Given the description of an element on the screen output the (x, y) to click on. 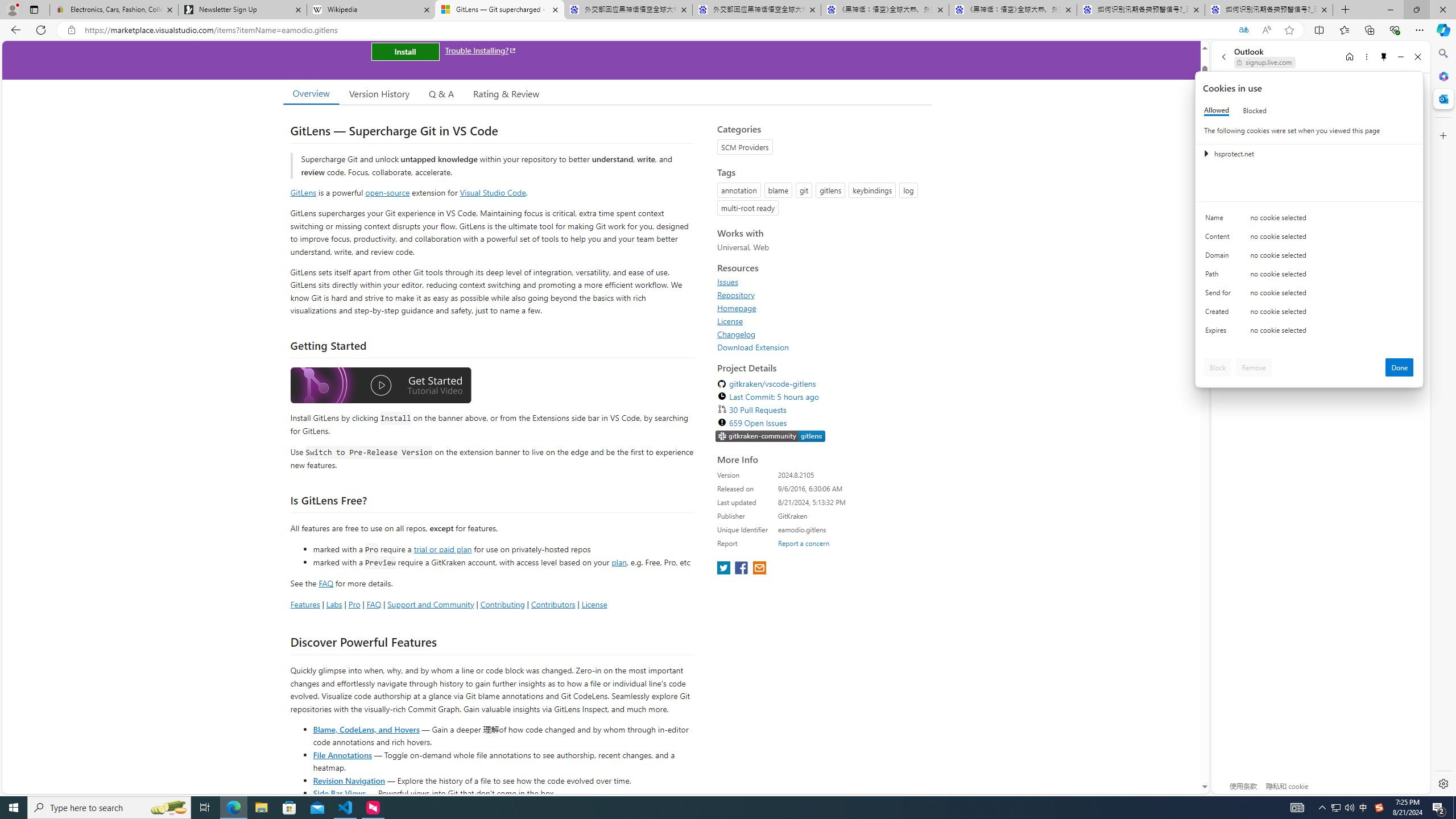
Class: c0153 c0157 (1309, 332)
Domain (1219, 257)
Send for (1219, 295)
Watch the GitLens Getting Started video (380, 385)
Block (1217, 367)
